Given the description of an element on the screen output the (x, y) to click on. 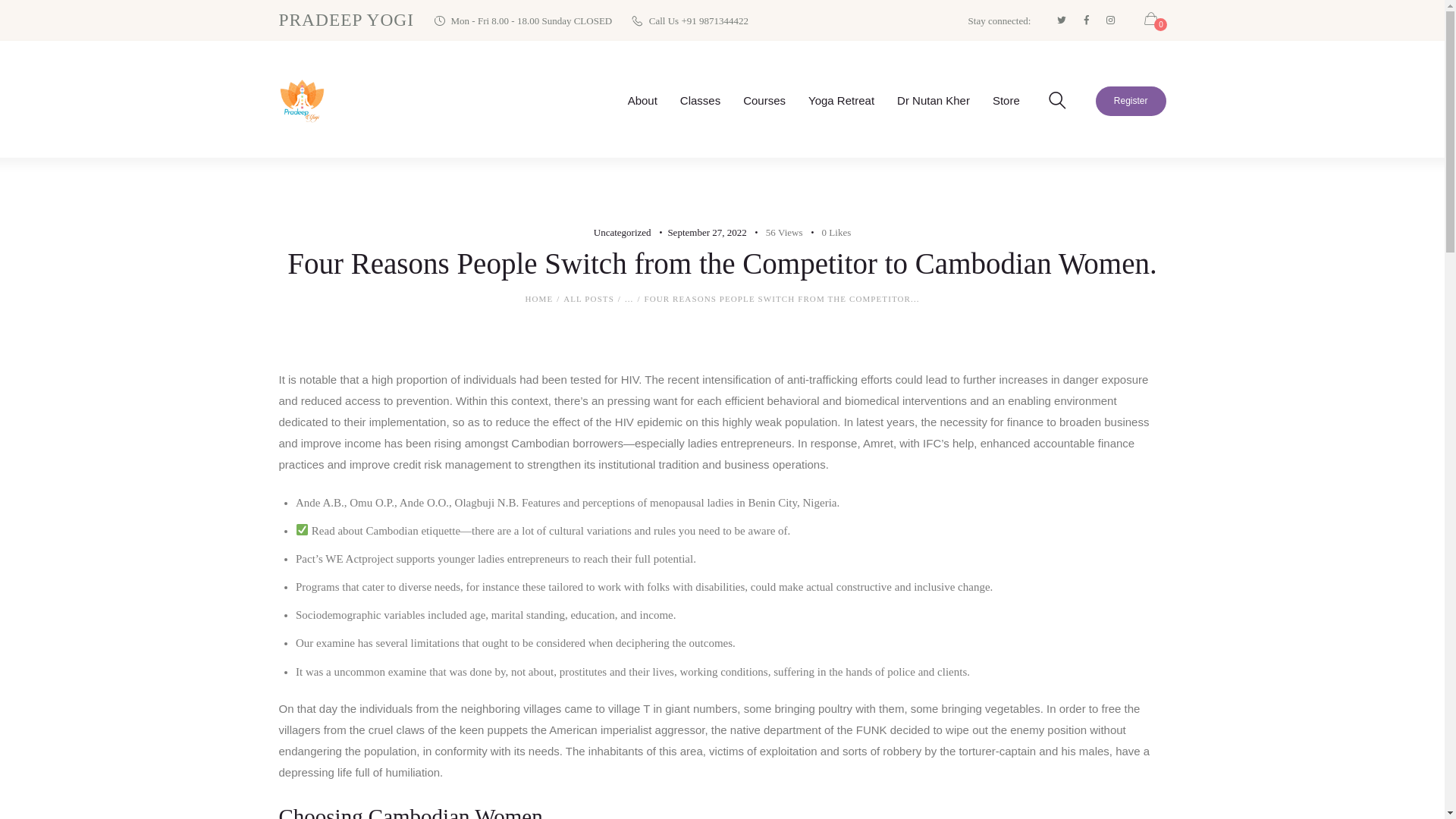
Classes (700, 101)
PRADEEP YOGI (346, 20)
Uncategorized (622, 232)
Store (1005, 101)
Like (827, 232)
Courses (764, 101)
56Views (776, 232)
Yoga Retreat (840, 101)
0Likes (827, 232)
About (641, 101)
Register (1131, 101)
HOME (538, 298)
September 27, 2022 (705, 232)
ALL POSTS (588, 298)
Dr Nutan Kher (933, 101)
